Given the description of an element on the screen output the (x, y) to click on. 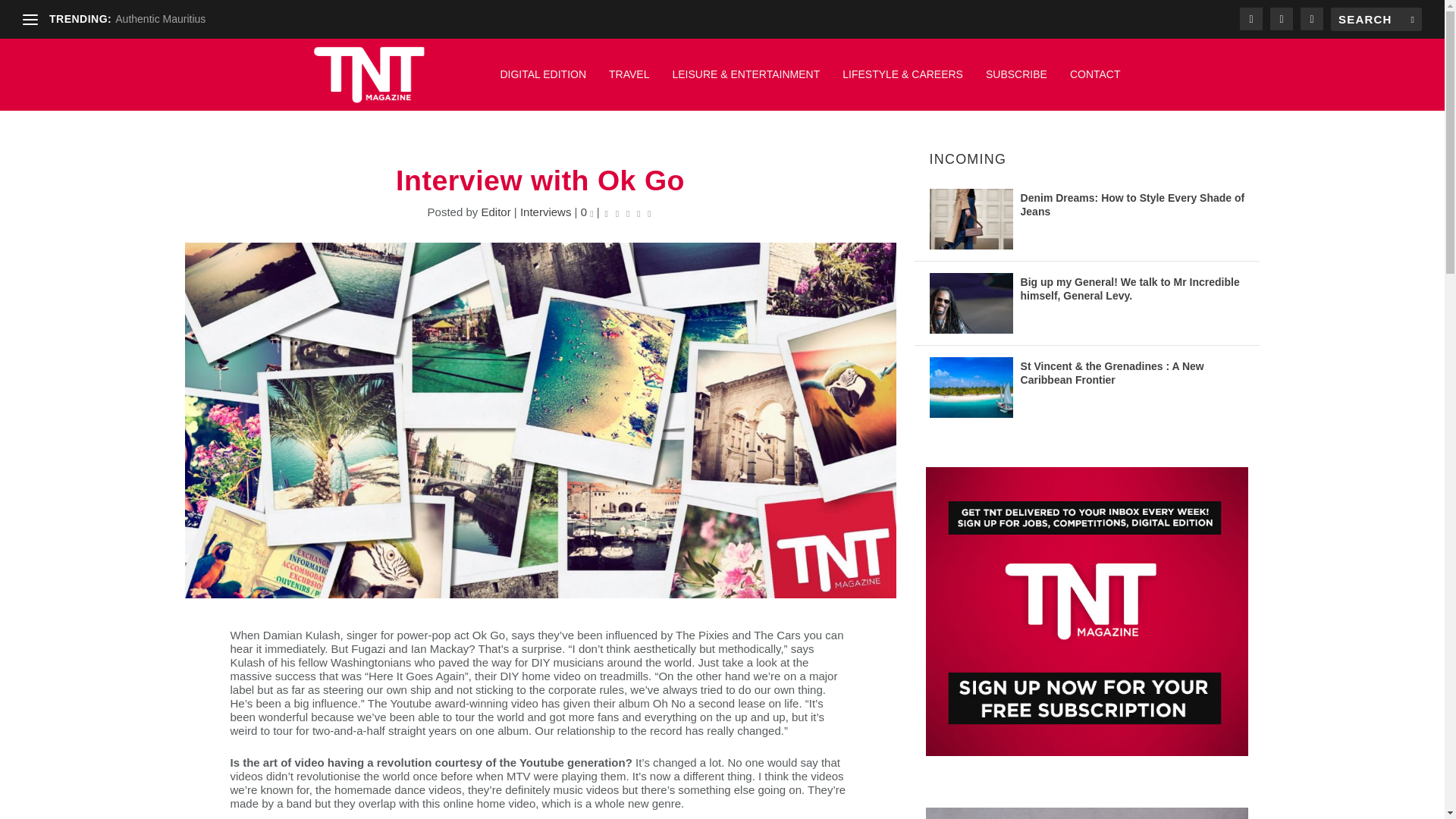
SUBSCRIBE (1015, 82)
0 (587, 211)
Interviews (545, 211)
Search for: (1376, 19)
Editor (495, 211)
Authentic Mauritius (160, 19)
Posts by Editor (495, 211)
Rating: 0.00 (627, 212)
DIGITAL EDITION (542, 82)
